Given the description of an element on the screen output the (x, y) to click on. 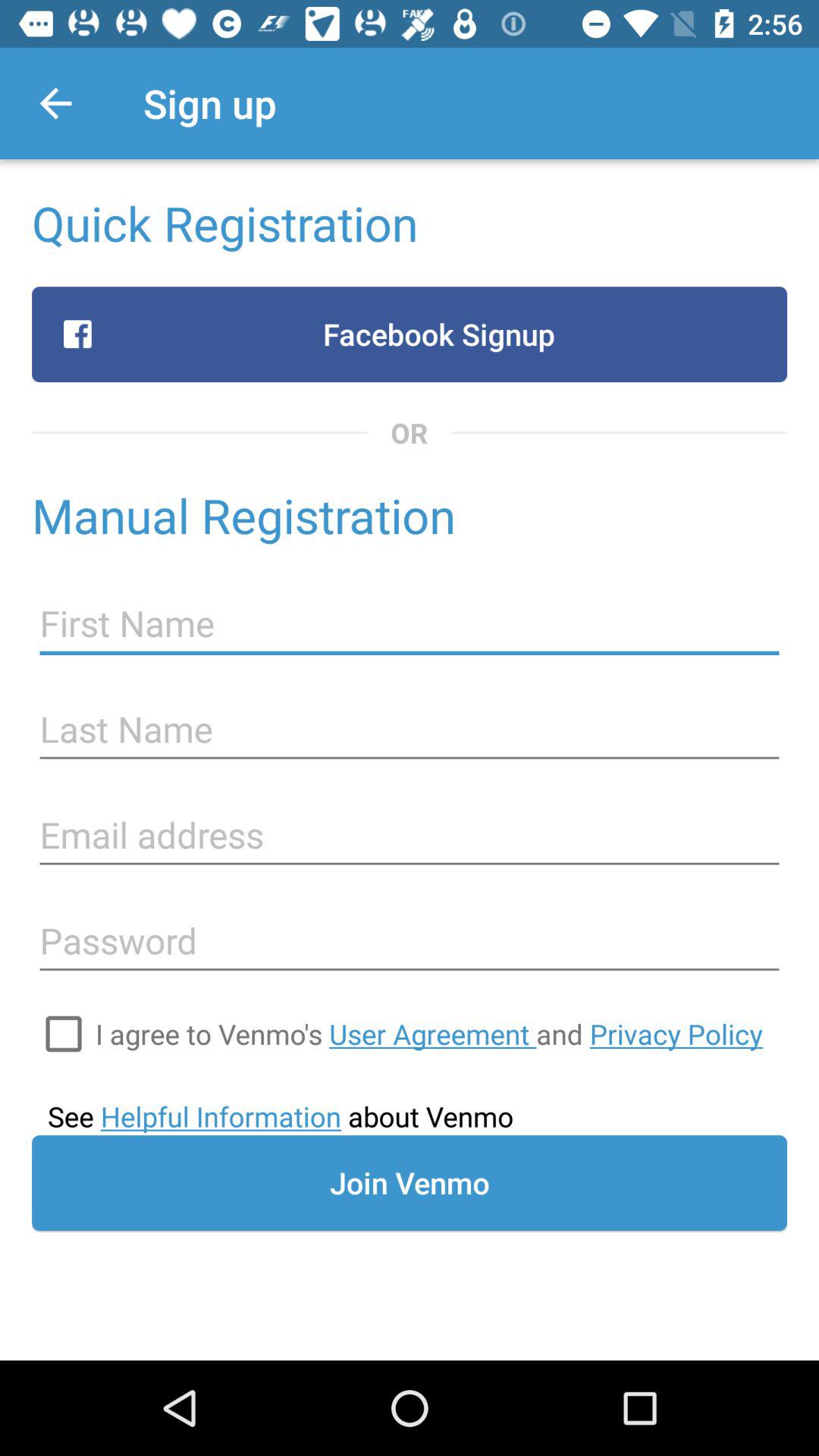
enter last name (409, 729)
